Given the description of an element on the screen output the (x, y) to click on. 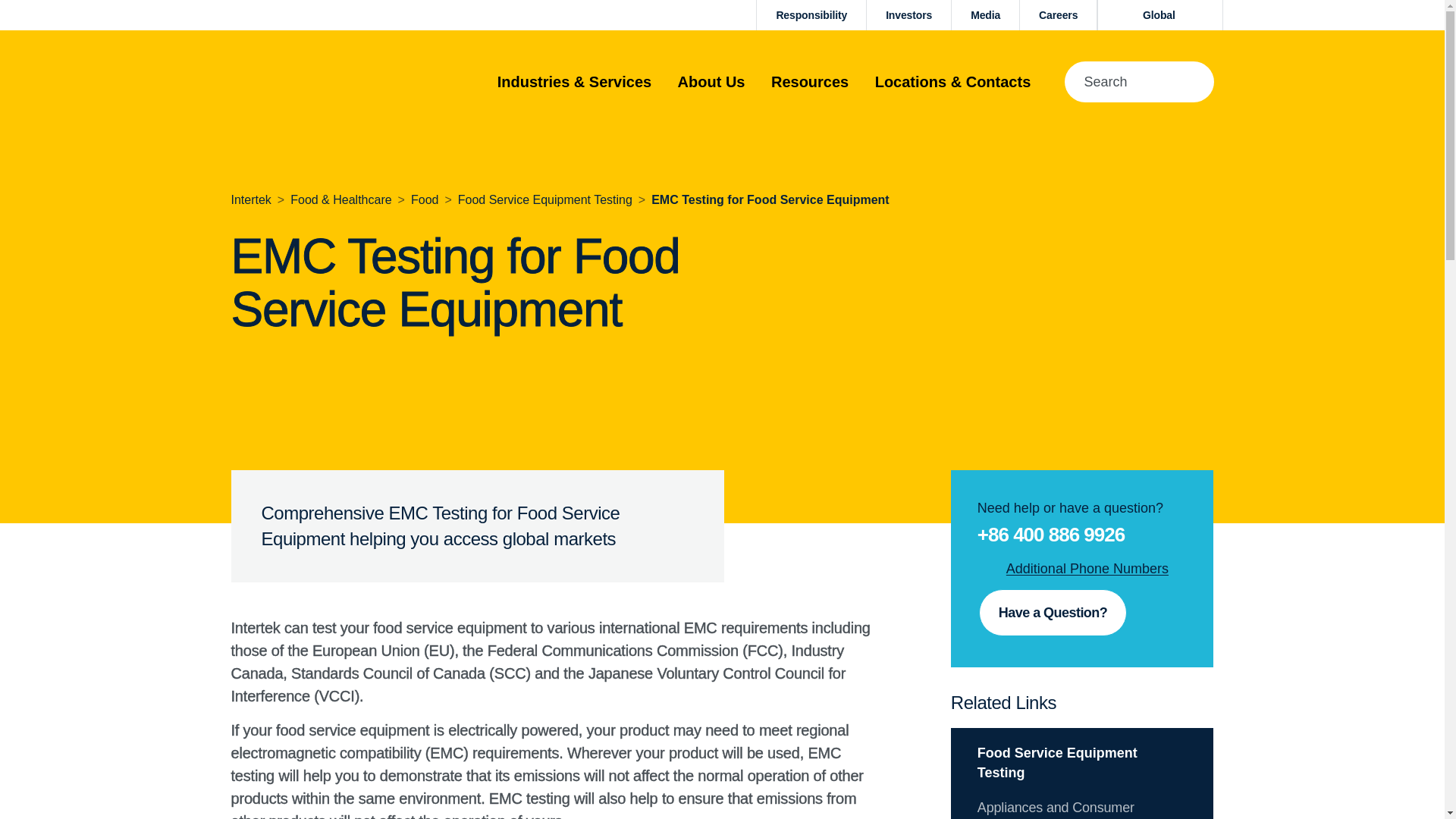
Intertek Intertek Brand Logo (304, 81)
Food Service Equipment Testing (544, 199)
Intertek Intertek Brand Logo (304, 81)
Intertek (250, 199)
Appliances and Consumer Electronics Testing (1055, 809)
Food (424, 199)
